Given the description of an element on the screen output the (x, y) to click on. 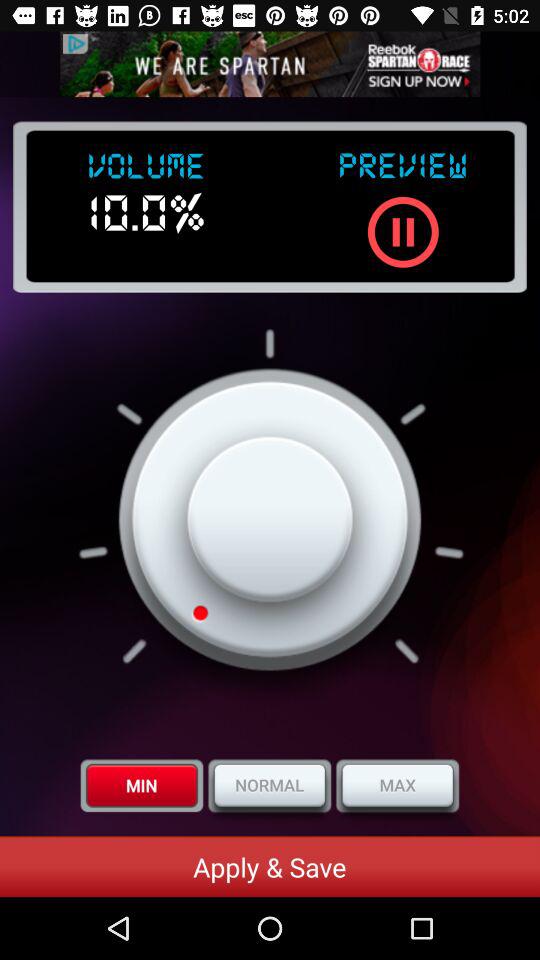
pause song (402, 231)
